Given the description of an element on the screen output the (x, y) to click on. 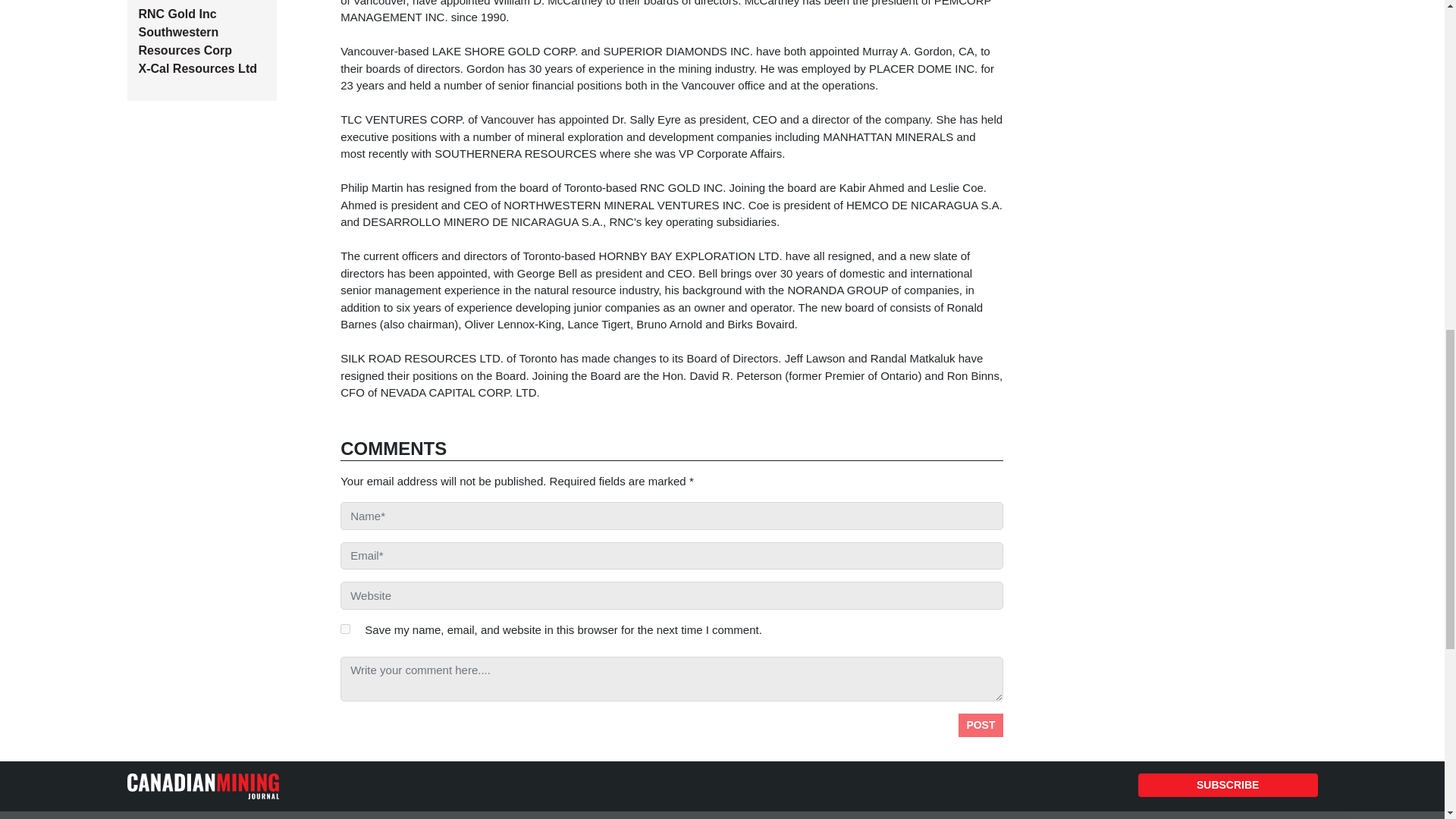
Post (980, 725)
yes (345, 628)
